Given the description of an element on the screen output the (x, y) to click on. 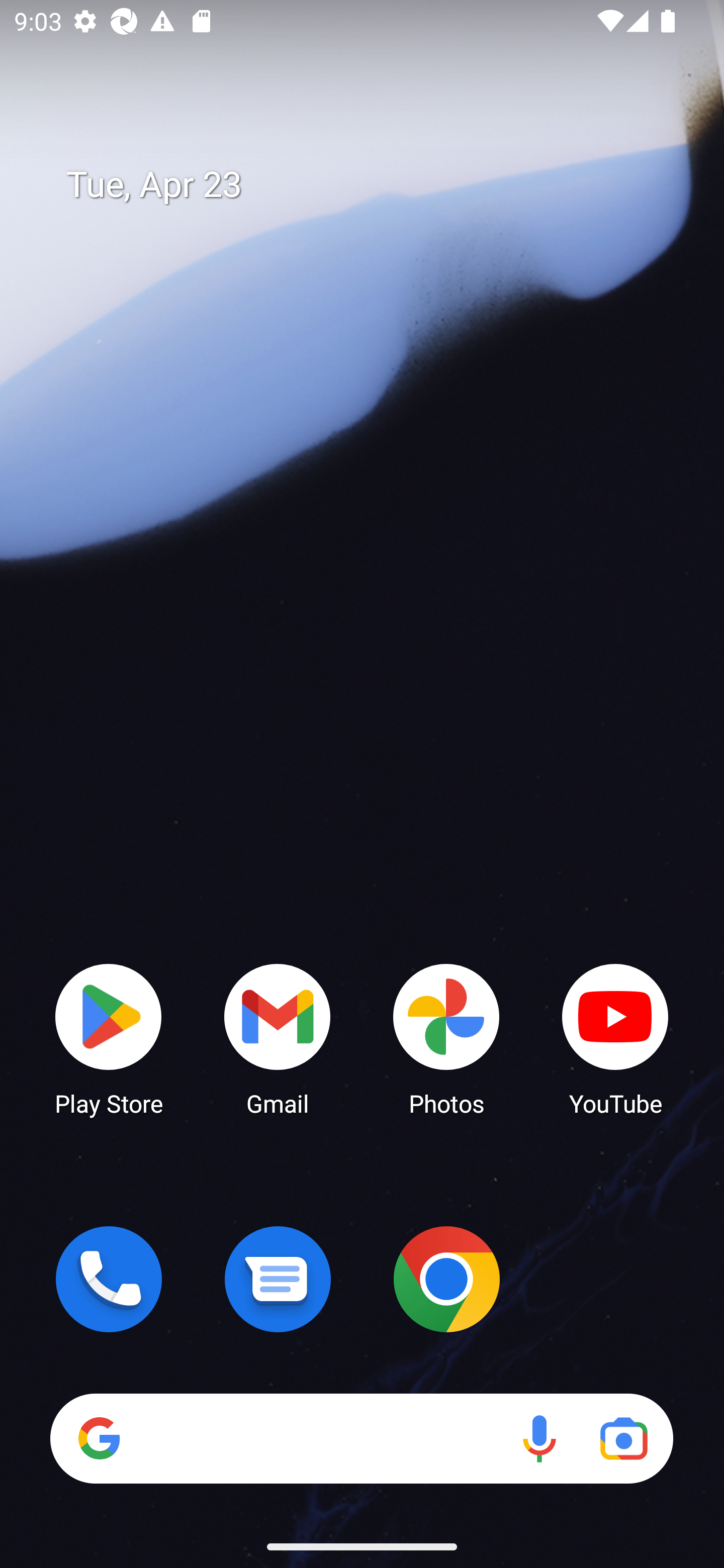
Tue, Apr 23 (375, 184)
Play Store (108, 1038)
Gmail (277, 1038)
Photos (445, 1038)
YouTube (615, 1038)
Phone (108, 1279)
Messages (277, 1279)
Chrome (446, 1279)
Search Voice search Google Lens (361, 1438)
Voice search (539, 1438)
Google Lens (623, 1438)
